Given the description of an element on the screen output the (x, y) to click on. 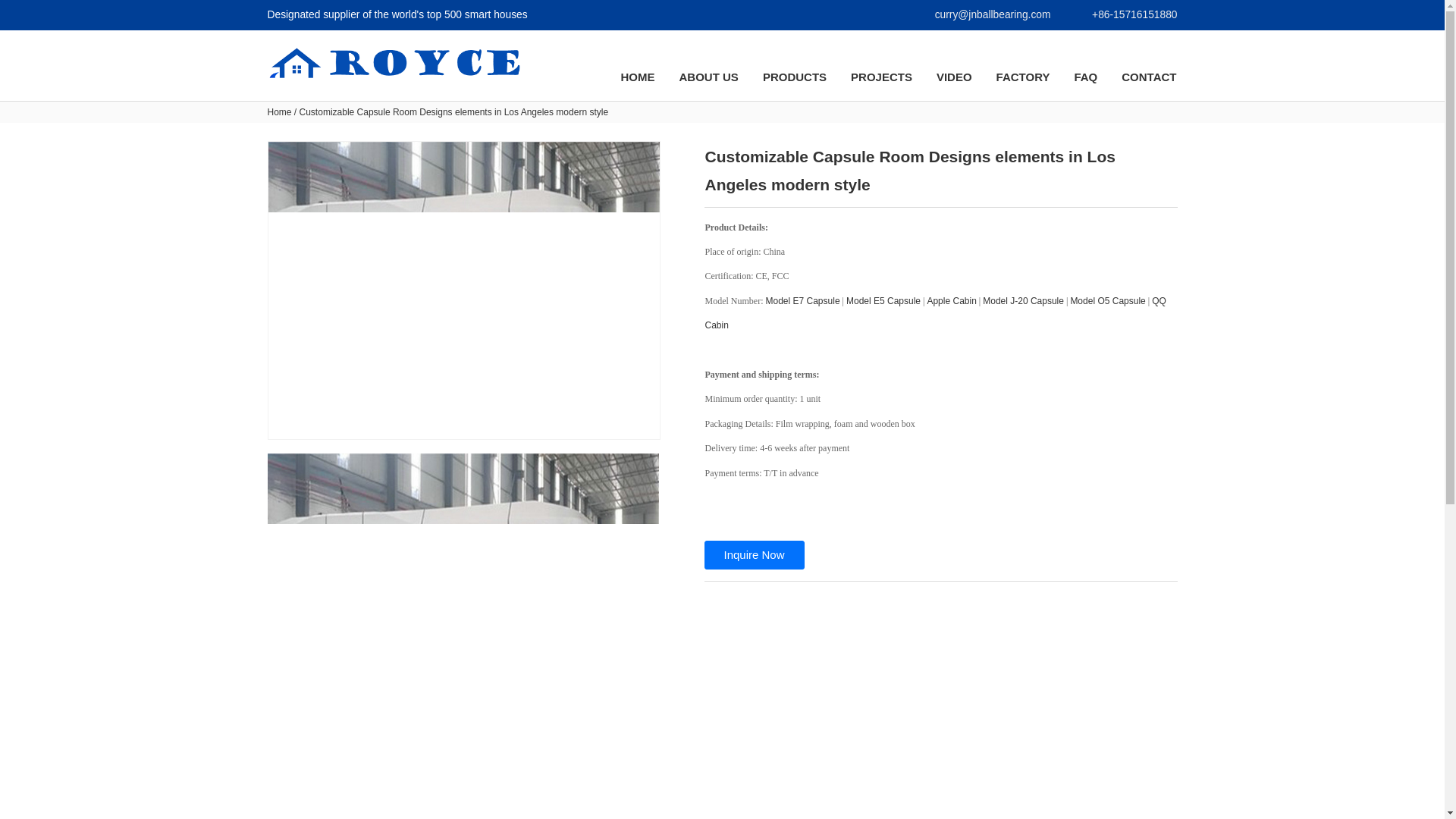
Model E7 Capsule (802, 300)
Model E5 Capsule (882, 300)
Model E7 Capsule (802, 300)
Inquire Now (753, 554)
CONTACT (1148, 76)
Model J-20 Capsule (1023, 300)
QQ Cabin (935, 312)
Model O5 Capsule (1107, 300)
FACTORY (1023, 76)
Model O5 Capsule (1107, 300)
Model E5 Capsule (882, 300)
Model J-20 Capsule (1023, 300)
Home (278, 111)
QQ Cabin (935, 312)
